Given the description of an element on the screen output the (x, y) to click on. 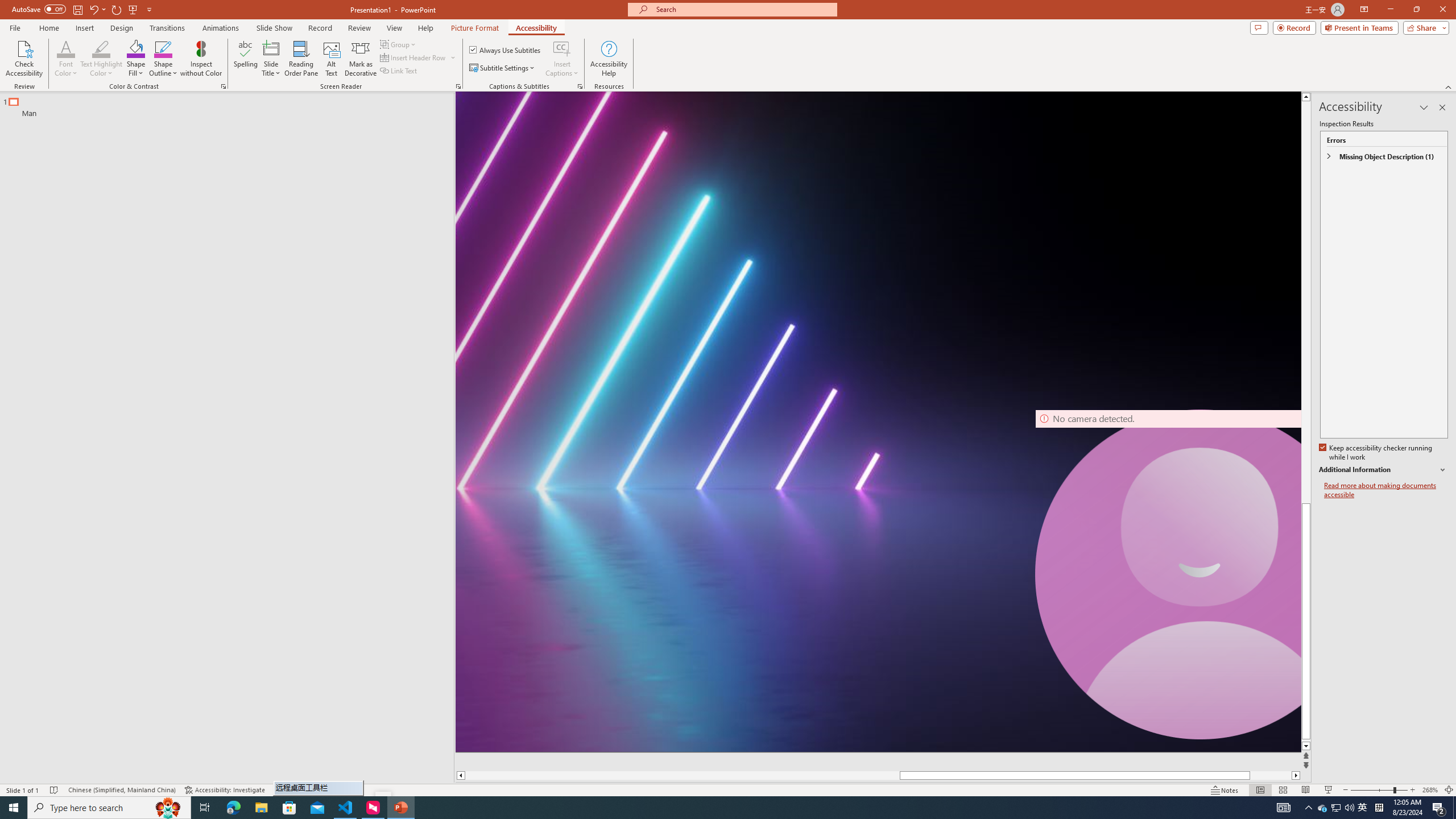
More Options (561, 68)
Slide Show (273, 28)
Insert Captions (561, 58)
AutoSave (38, 9)
Help (425, 28)
Slide Show (1328, 790)
Zoom to Fit  (1449, 790)
Slide Sorter (1282, 790)
Alt Text (331, 58)
Customize Quick Access Toolbar (149, 9)
